Given the description of an element on the screen output the (x, y) to click on. 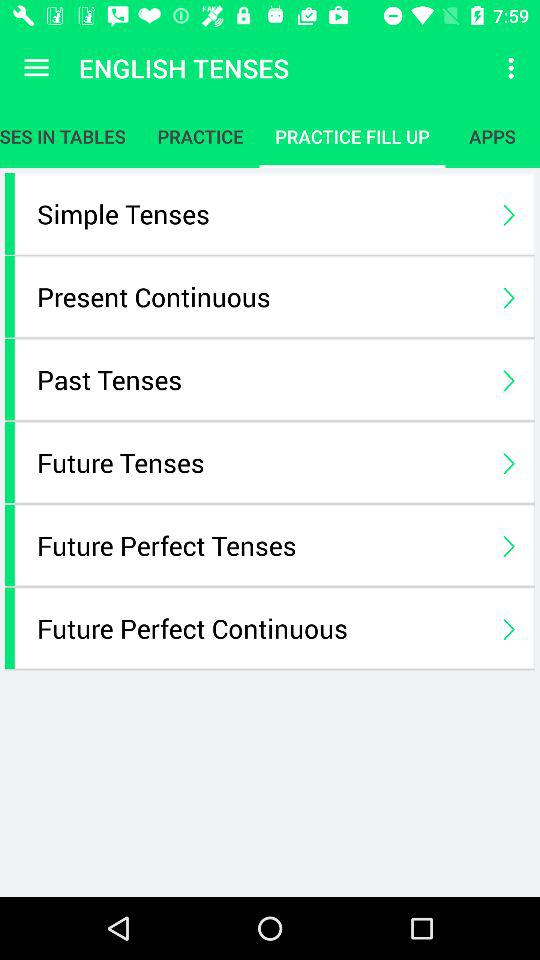
click on the third arrow from top (508, 378)
click on arrow which is next to future tenses (508, 462)
click on the last next button to right of the page (508, 628)
click on icon on the right side of future perfect tenses (508, 544)
